Given the description of an element on the screen output the (x, y) to click on. 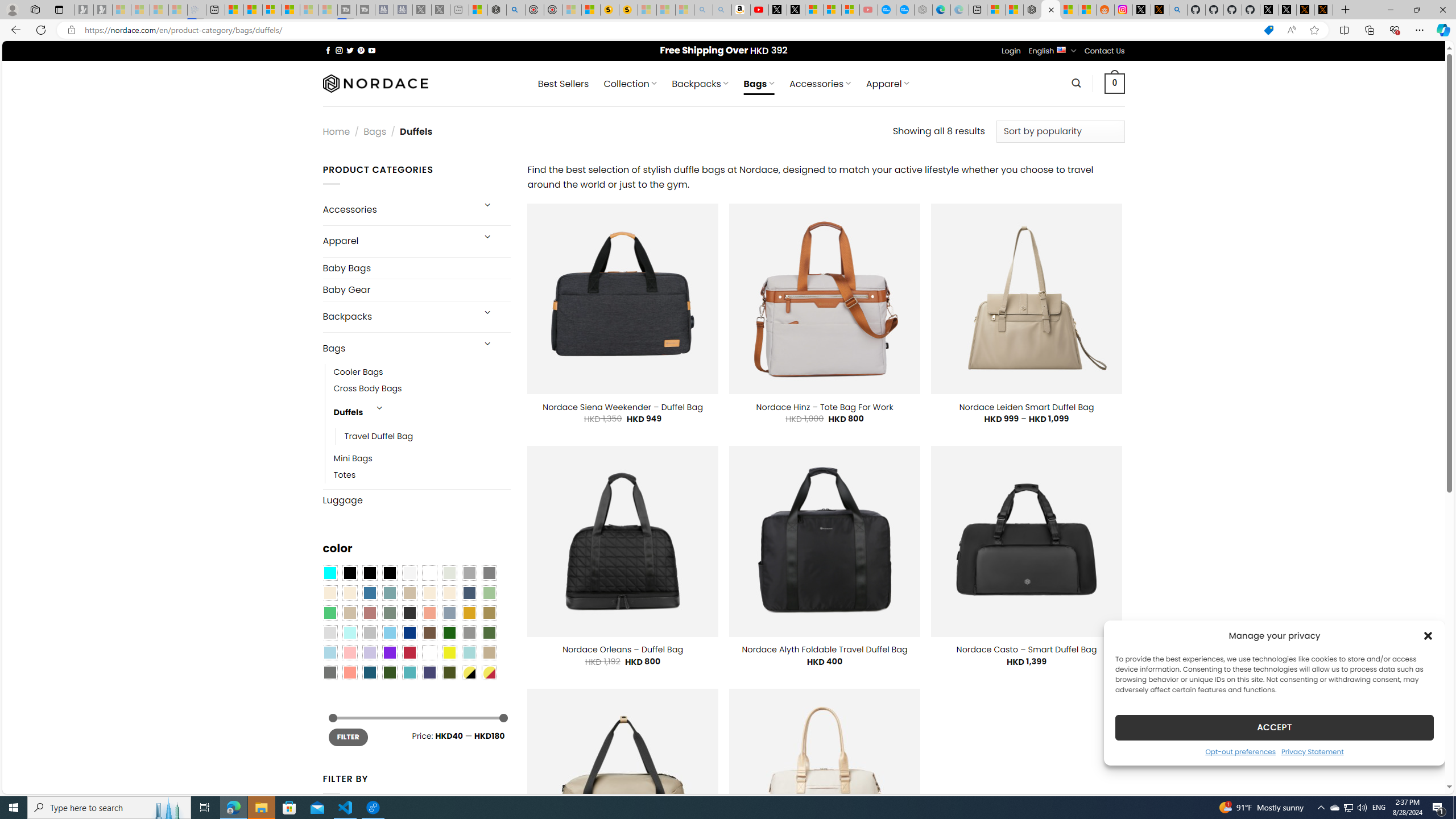
Purple (389, 652)
Cooler Bags (357, 371)
Black-Brown (389, 572)
Purple Navy (429, 672)
 Best Sellers (563, 83)
Emerald Green (329, 613)
